Given the description of an element on the screen output the (x, y) to click on. 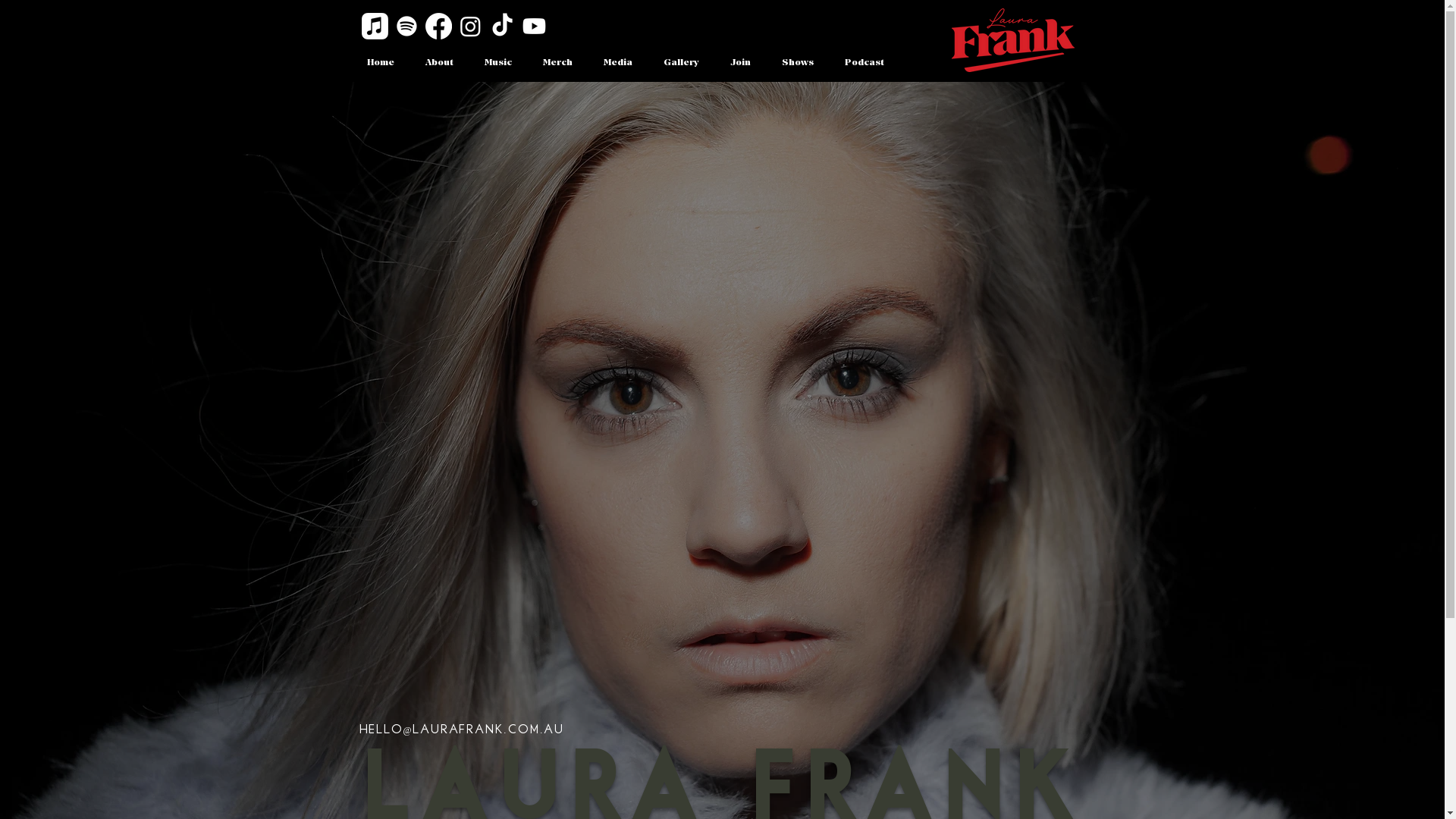
Music Element type: text (497, 63)
Gallery Element type: text (680, 63)
Media Element type: text (618, 63)
Join Element type: text (739, 63)
Home Element type: text (379, 63)
Podcast Element type: text (864, 63)
Shows Element type: text (796, 63)
About Element type: text (438, 63)
hello@laurafrank.com.au Element type: text (461, 729)
Merch Element type: text (557, 63)
